Given the description of an element on the screen output the (x, y) to click on. 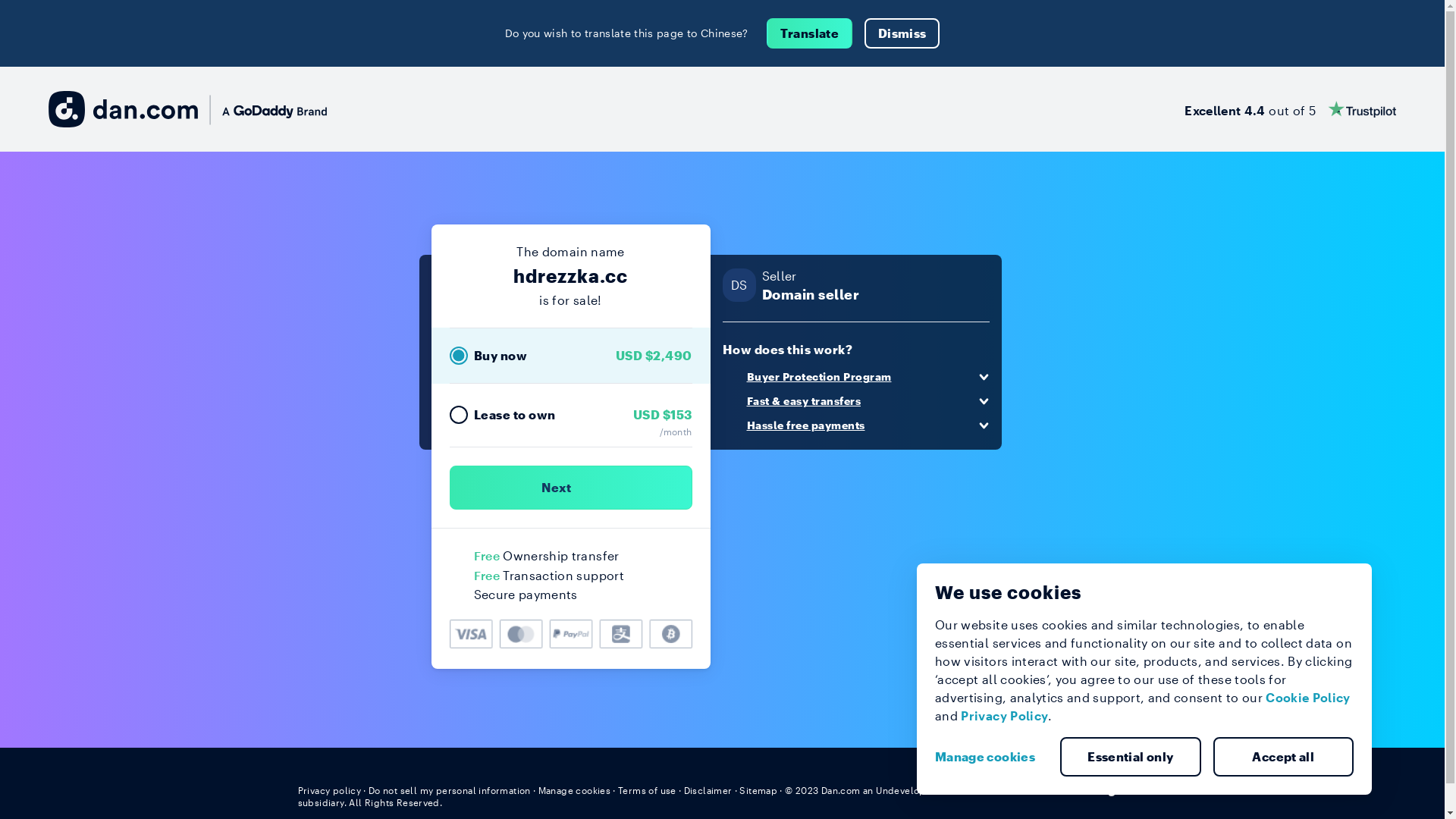
Sitemap Element type: text (758, 789)
Privacy Policy Element type: text (1004, 715)
Manage cookies Element type: text (991, 756)
Accept all Element type: text (1283, 756)
Translate Element type: text (809, 33)
Terms of use Element type: text (647, 789)
Essential only Element type: text (1130, 756)
Manage cookies Element type: text (574, 790)
Disclaimer Element type: text (708, 789)
Dismiss Element type: text (901, 33)
Cookie Policy Element type: text (1307, 697)
Next
) Element type: text (569, 487)
Do not sell my personal information Element type: text (449, 789)
English Element type: text (1119, 789)
Excellent 4.4 out of 5 Element type: text (1290, 109)
Privacy policy Element type: text (328, 789)
